Given the description of an element on the screen output the (x, y) to click on. 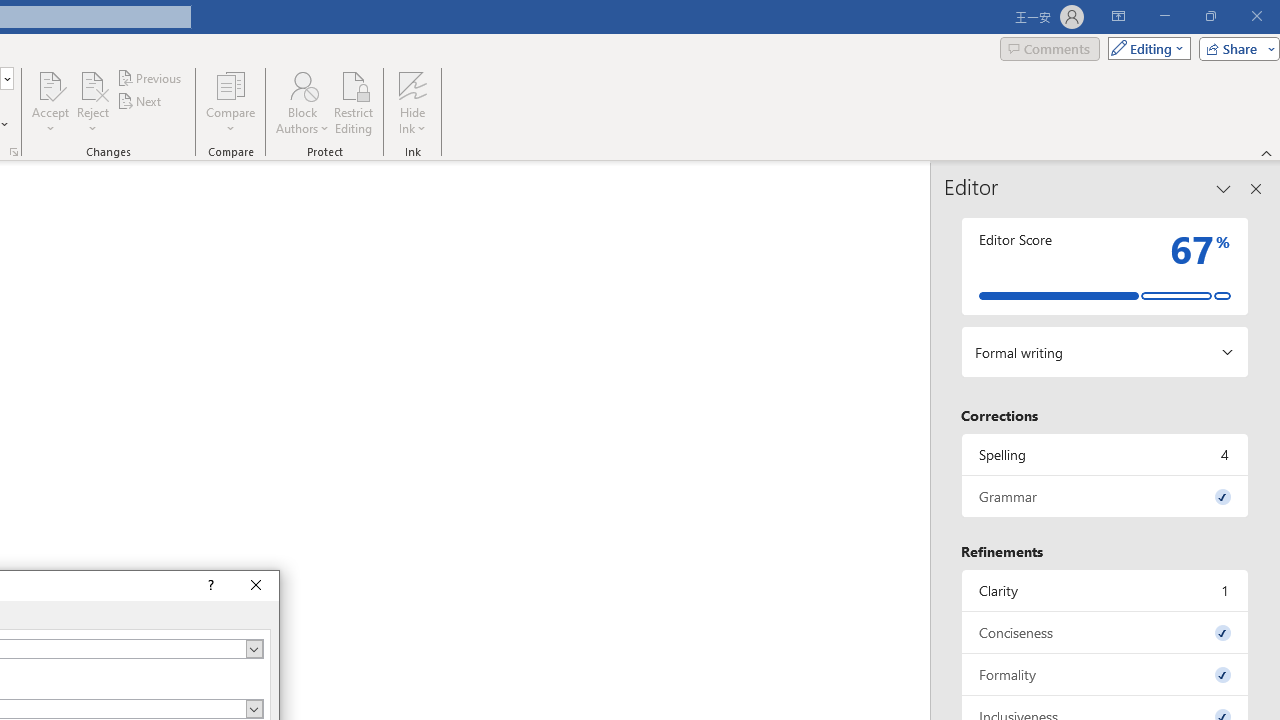
Clarity, 1 issue. Press space or enter to review items. (1105, 590)
Block Authors (302, 84)
Compare (230, 102)
Block Authors (302, 102)
Context help (208, 585)
Hide Ink (412, 102)
Accept and Move to Next (50, 84)
Restrict Editing (353, 102)
Next (140, 101)
